Given the description of an element on the screen output the (x, y) to click on. 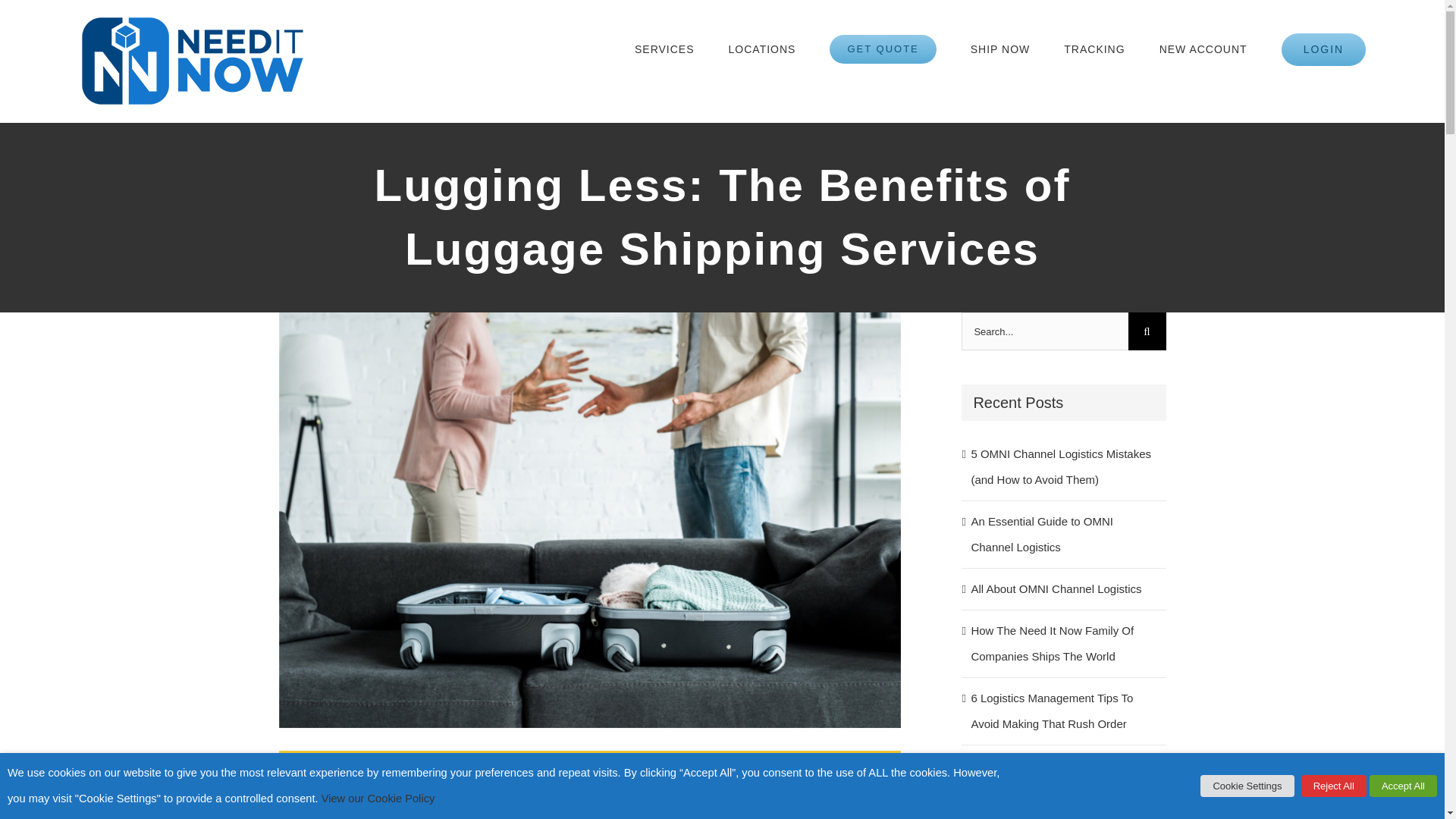
LOGIN (1324, 49)
SHIP NOW (1000, 49)
Lugging Less: The Benefits of Luggage Shipping Services (590, 785)
LOCATIONS (762, 49)
GET QUOTE (882, 49)
NEW ACCOUNT (1202, 49)
SERVICES (664, 49)
TRACKING (1094, 49)
